Given the description of an element on the screen output the (x, y) to click on. 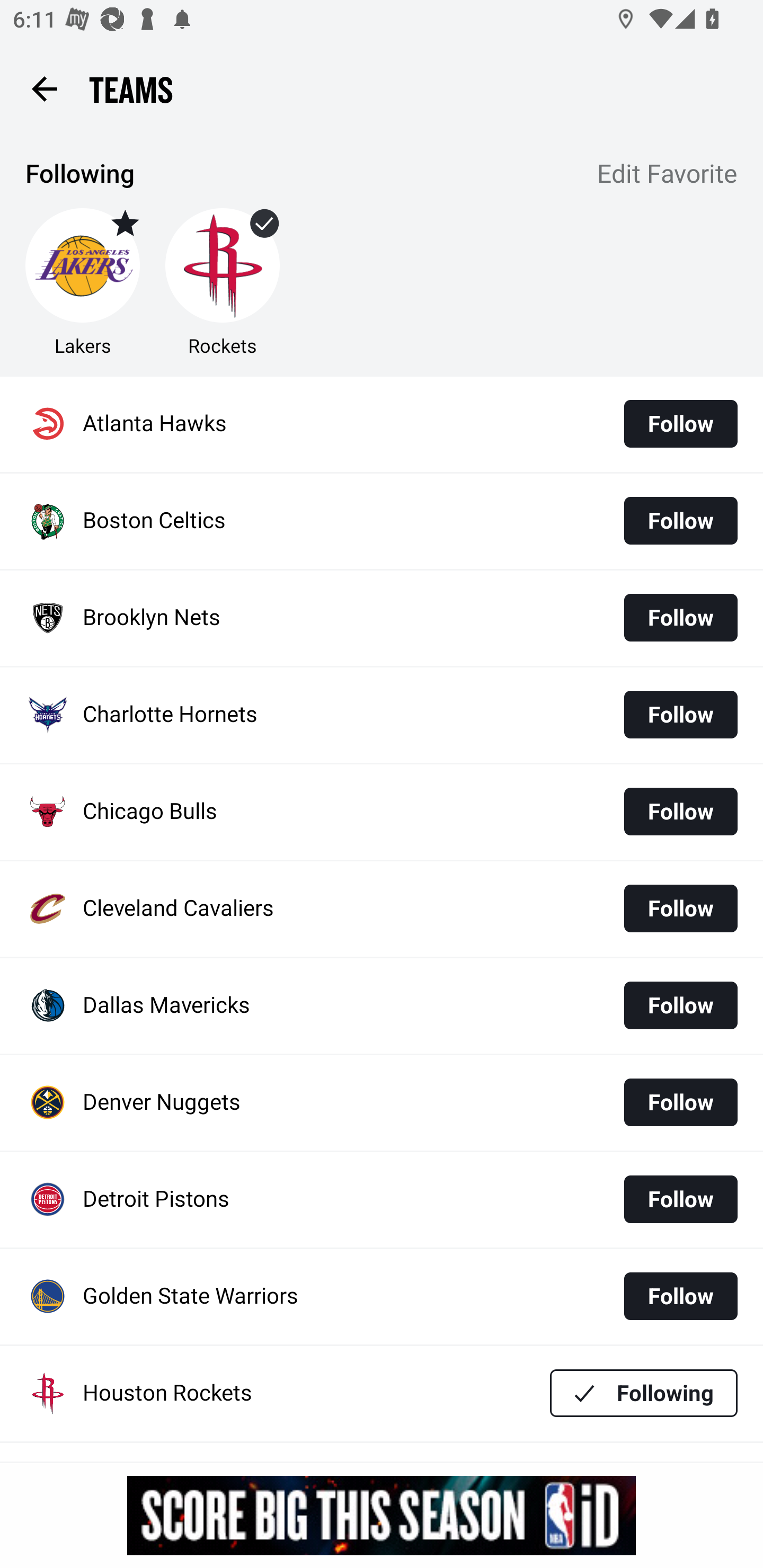
Back button (44, 88)
Edit Favorite (667, 175)
Atlanta Hawks Follow (381, 423)
Follow (680, 423)
Boston Celtics Follow (381, 521)
Follow (680, 520)
Brooklyn Nets Follow (381, 618)
Follow (680, 617)
Charlotte Hornets Follow (381, 714)
Follow (680, 713)
Chicago Bulls Follow (381, 812)
Follow (680, 811)
Cleveland Cavaliers Follow (381, 908)
Follow (680, 908)
Dallas Mavericks Follow (381, 1005)
Follow (680, 1005)
Denver Nuggets Follow (381, 1102)
Follow (680, 1101)
Detroit Pistons Follow (381, 1200)
Follow (680, 1199)
Golden State Warriors Follow (381, 1296)
Follow (680, 1295)
Houston Rockets Following (381, 1392)
Following (643, 1392)
g5nqqygr7owph (381, 1515)
